Given the description of an element on the screen output the (x, y) to click on. 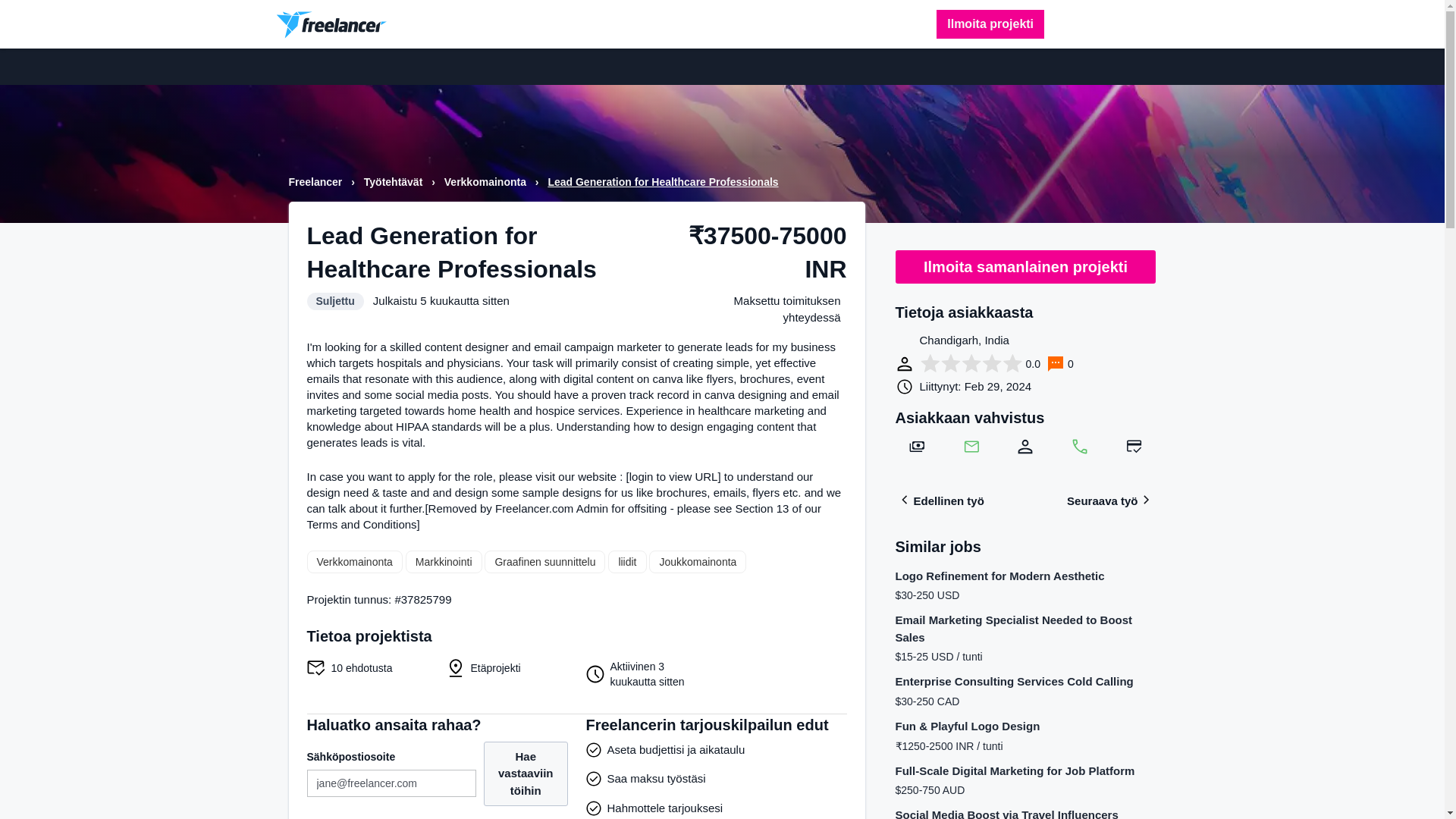
Verkkomainonta (486, 182)
India (904, 341)
Graafinen suunnittelu (544, 561)
Ilmoita samanlainen projekti (1025, 266)
Freelancer (316, 182)
Joukkomainonta (697, 561)
Markkinointi (443, 561)
Verkkomainonta (353, 561)
Ilmoita projekti (989, 23)
liidit (627, 561)
